Given the description of an element on the screen output the (x, y) to click on. 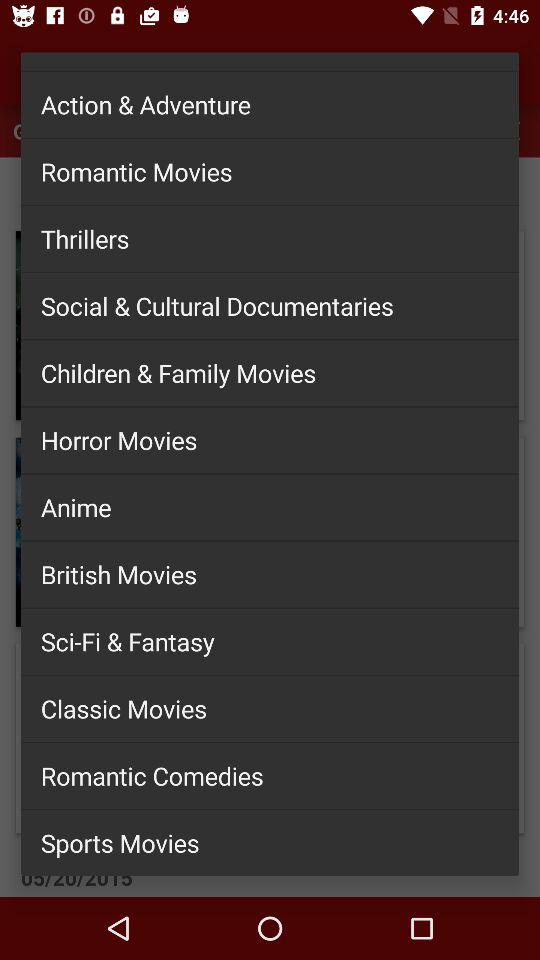
launch icon above    classic movies (269, 641)
